Given the description of an element on the screen output the (x, y) to click on. 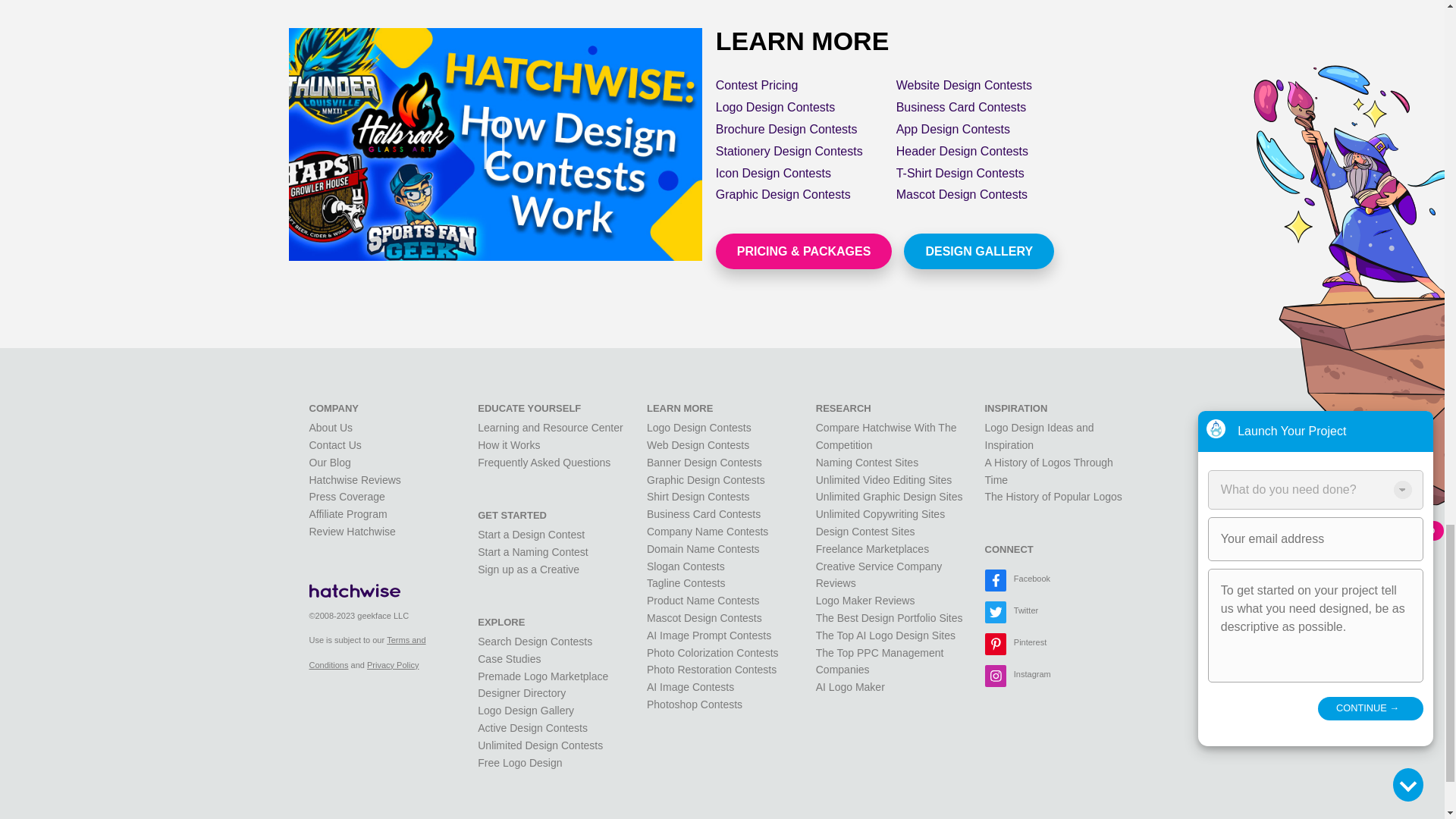
Graphic Design Contests (783, 194)
Logo Design Contests (775, 106)
Stationery Design Contests (789, 151)
Business Card Contests (961, 106)
App Design Contests (953, 128)
Contest Pricing (756, 84)
Brochure Design Contests (786, 128)
Header Design Contests (961, 151)
Icon Design Contests (773, 173)
Website Design Contests (964, 84)
